Given the description of an element on the screen output the (x, y) to click on. 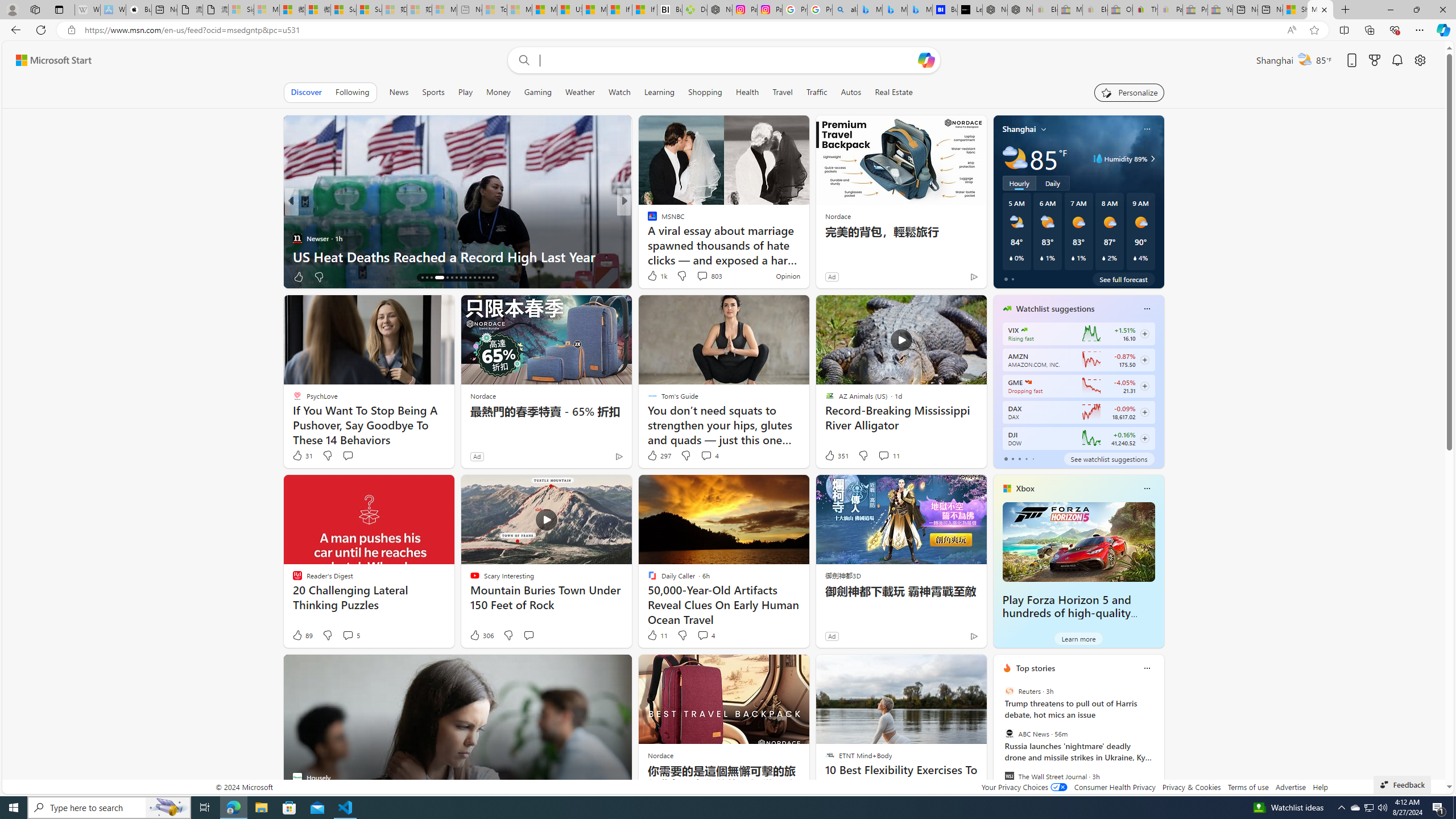
You're following The Weather Channel (949, 279)
336 Like (654, 276)
Nature of Home (647, 219)
alabama high school quarterback dies - Search (844, 9)
AutomationID: tab-23 (460, 277)
Microsoft Bing Travel - Flights from Hong Kong to Bangkok (869, 9)
View comments 21 Comment (698, 276)
AutomationID: tab-27 (478, 277)
tab-0 (1005, 458)
